Given the description of an element on the screen output the (x, y) to click on. 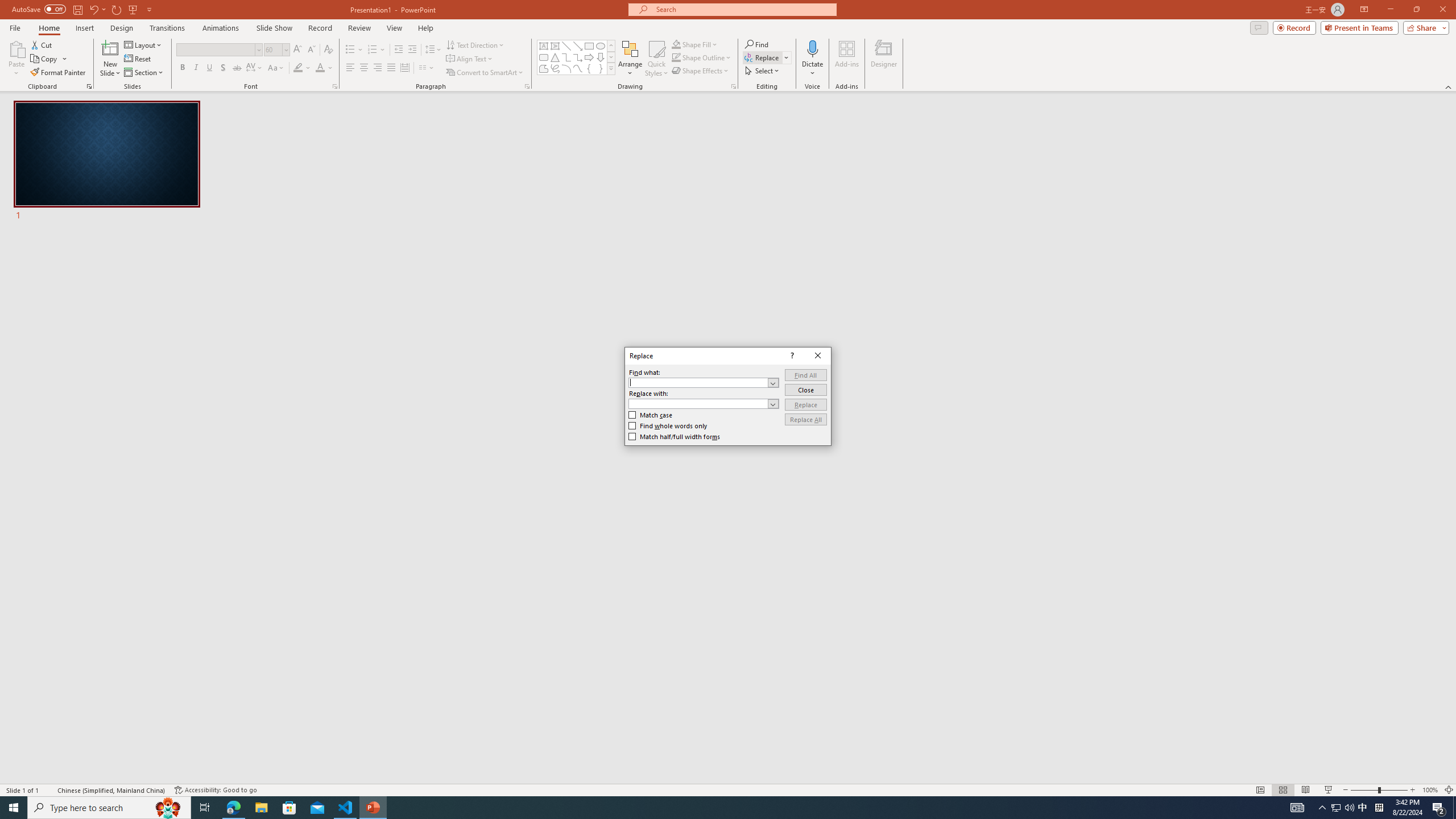
Shadow (223, 67)
Left Brace (589, 68)
Replace with (697, 403)
Arc (566, 68)
Find what (697, 382)
Italic (1362, 807)
Match case (195, 67)
